Given the description of an element on the screen output the (x, y) to click on. 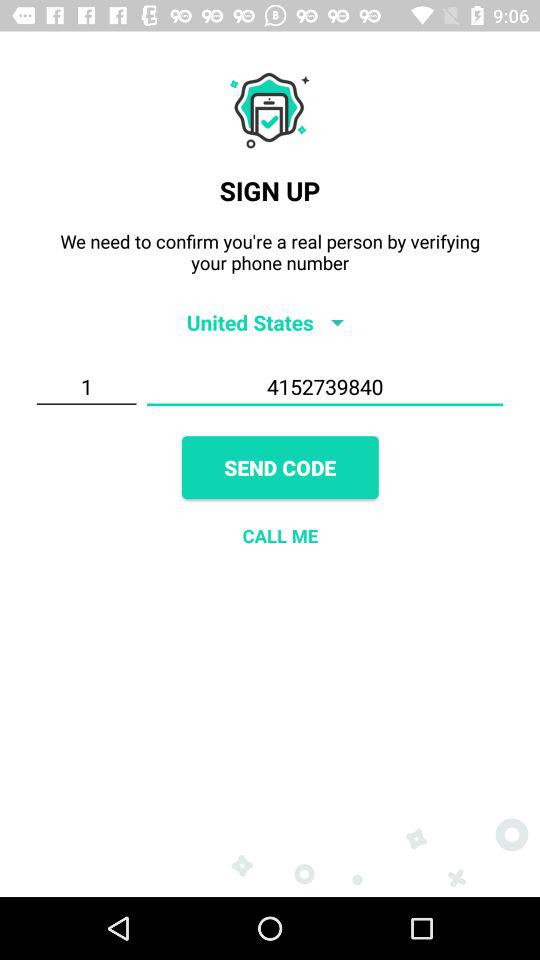
turn off united states icon (269, 322)
